Given the description of an element on the screen output the (x, y) to click on. 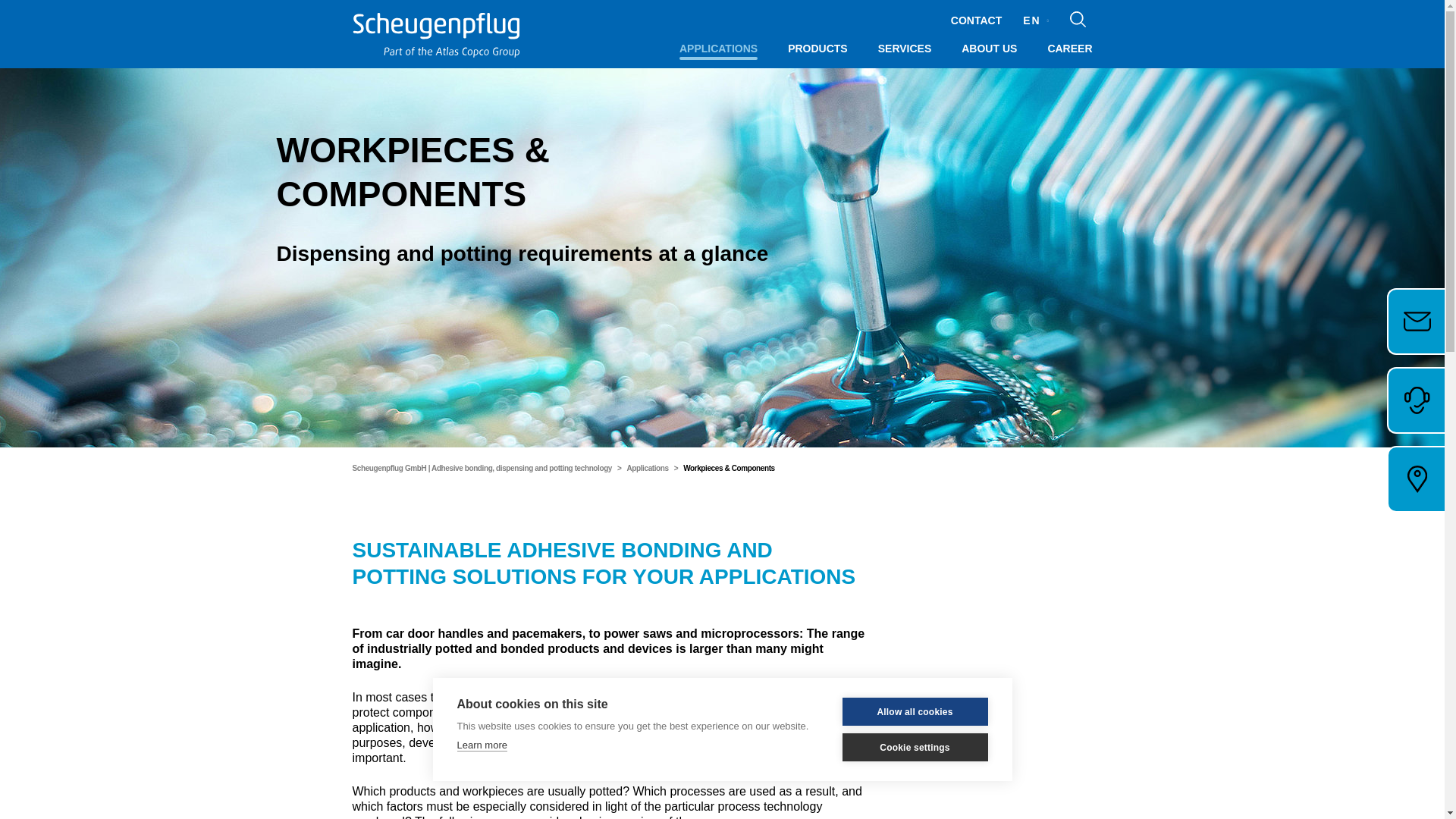
PRODUCTS (817, 48)
CONTACT (976, 16)
APPLICATIONS (718, 48)
Scheugenpflug GmbH (444, 34)
Contact (976, 16)
